Given the description of an element on the screen output the (x, y) to click on. 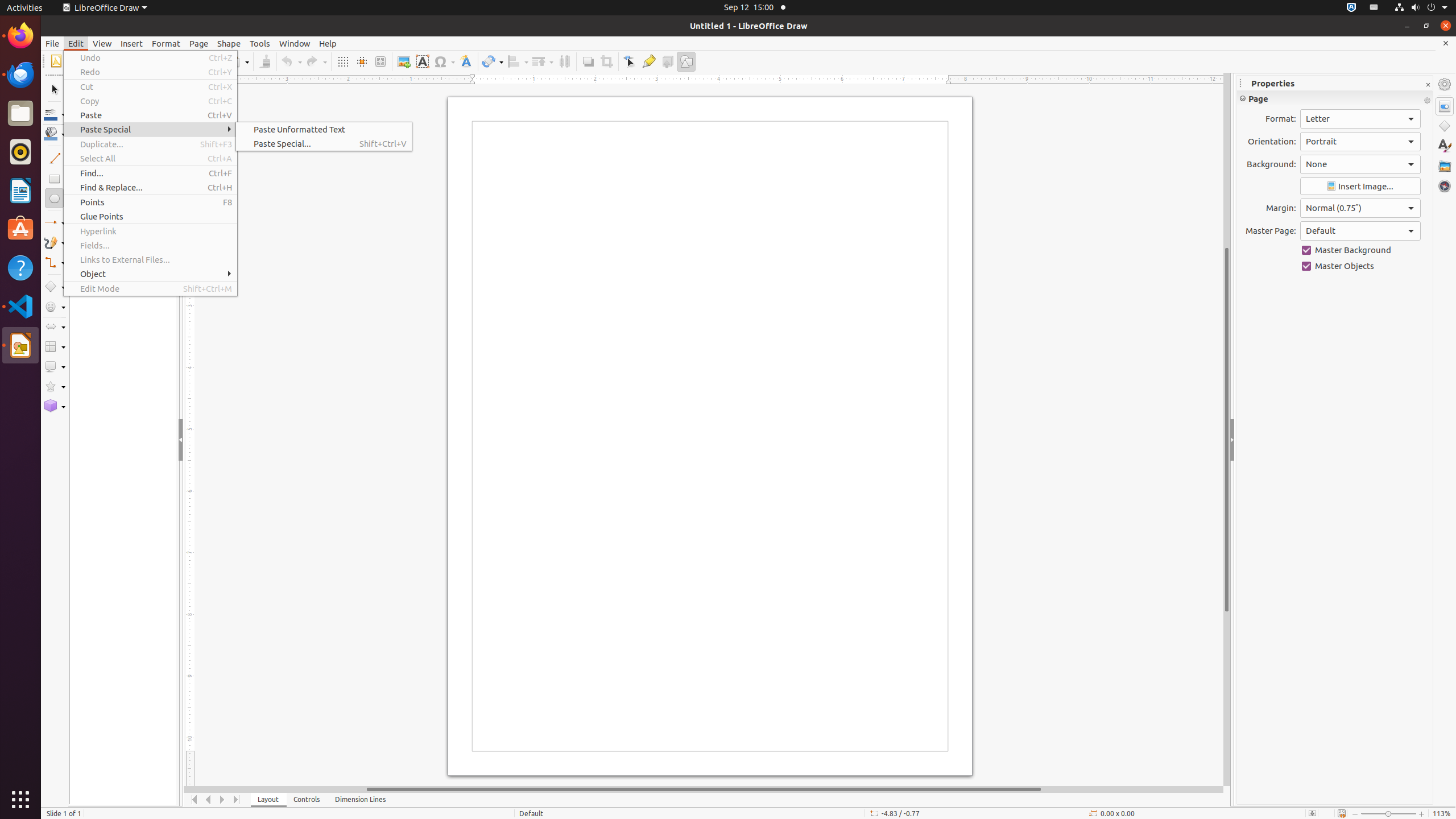
LibreOffice Draw Element type: menu (103, 7)
Move To End Element type: push-button (236, 799)
Symbol Element type: push-button (443, 61)
Orientation: Element type: combo-box (1360, 141)
Image Element type: push-button (403, 61)
